Given the description of an element on the screen output the (x, y) to click on. 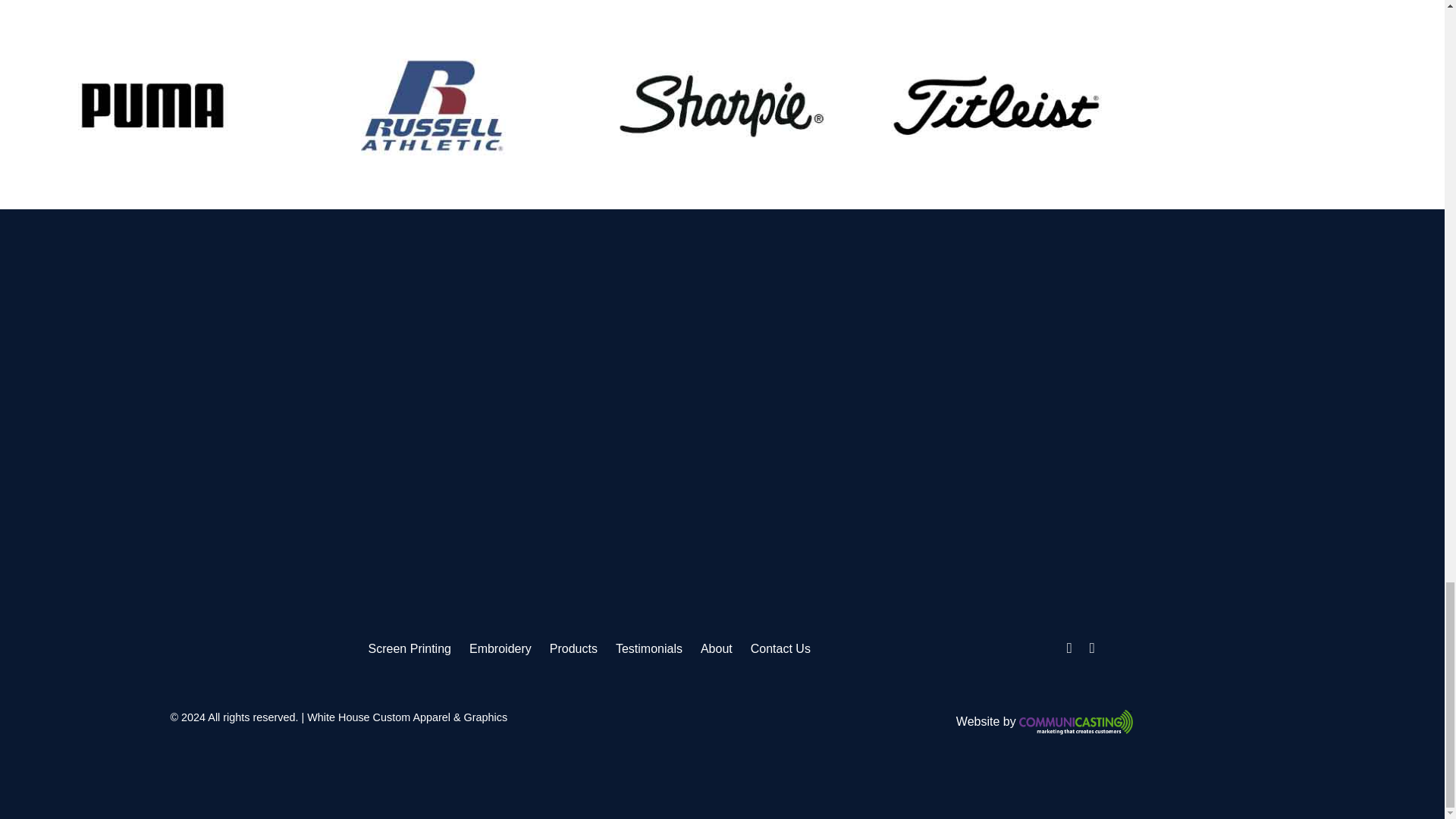
Screen Printing (409, 648)
Contact Us (780, 648)
Embroidery (499, 648)
Products (573, 648)
Embroidery (499, 648)
About (716, 648)
About (716, 648)
Contact Us (780, 648)
Testimonials (648, 648)
Products (573, 648)
